Given the description of an element on the screen output the (x, y) to click on. 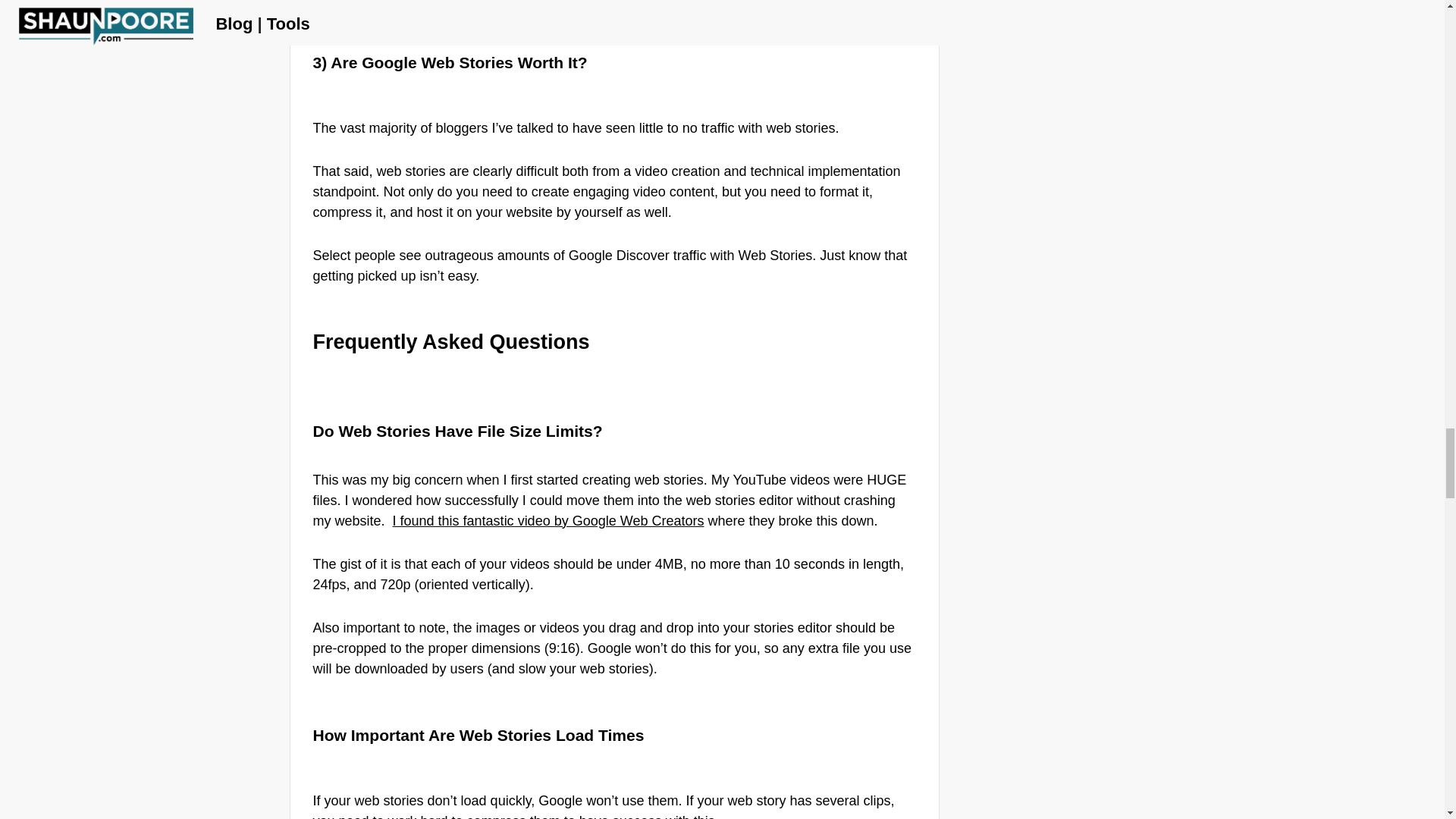
I found this fantastic video by Google Web Creators (548, 519)
